Given the description of an element on the screen output the (x, y) to click on. 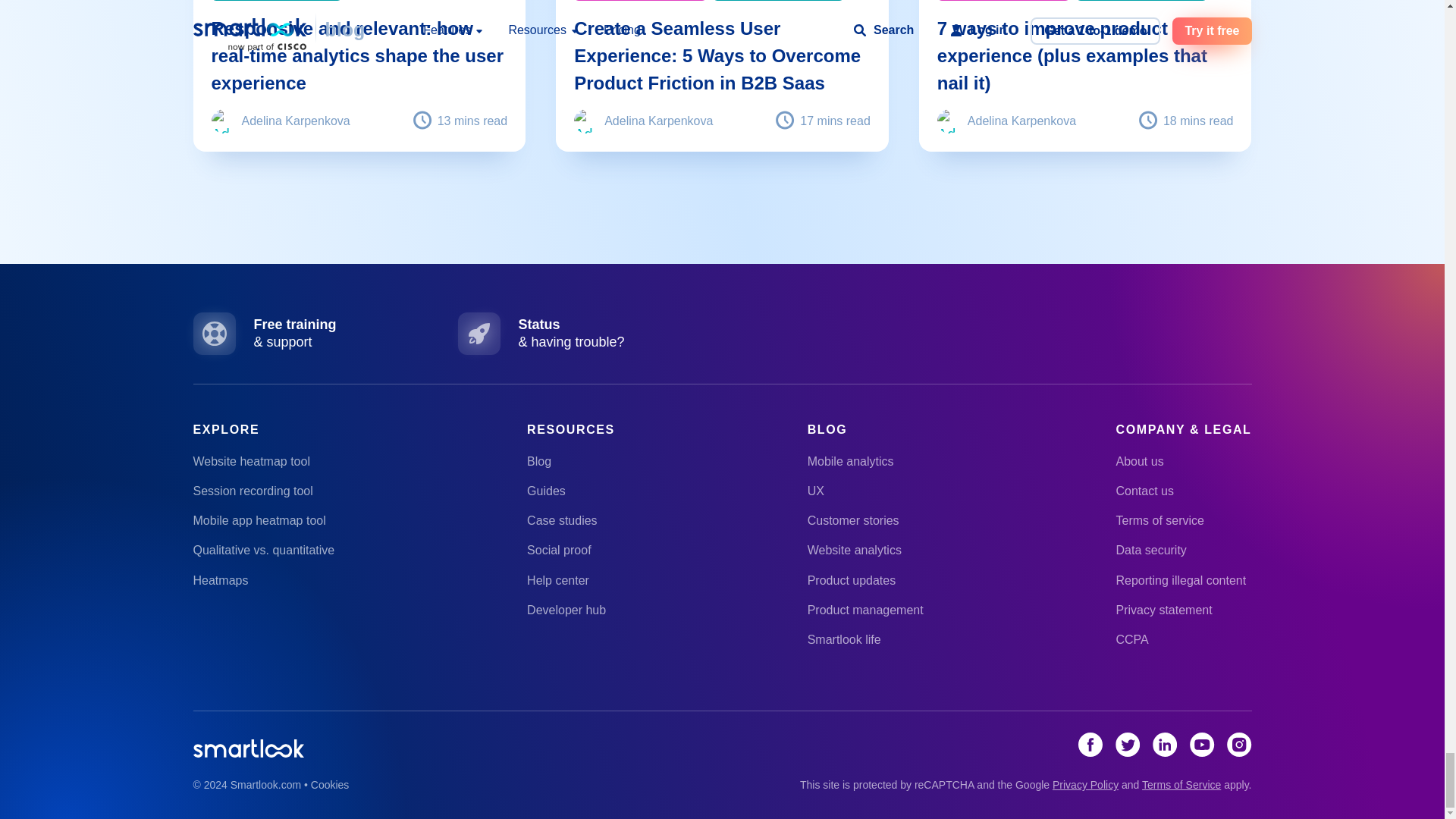
Twitter (1127, 751)
Facebook (1090, 751)
LinkedIn (1165, 751)
Instagram (1239, 751)
YouTube (1201, 751)
